Given the description of an element on the screen output the (x, y) to click on. 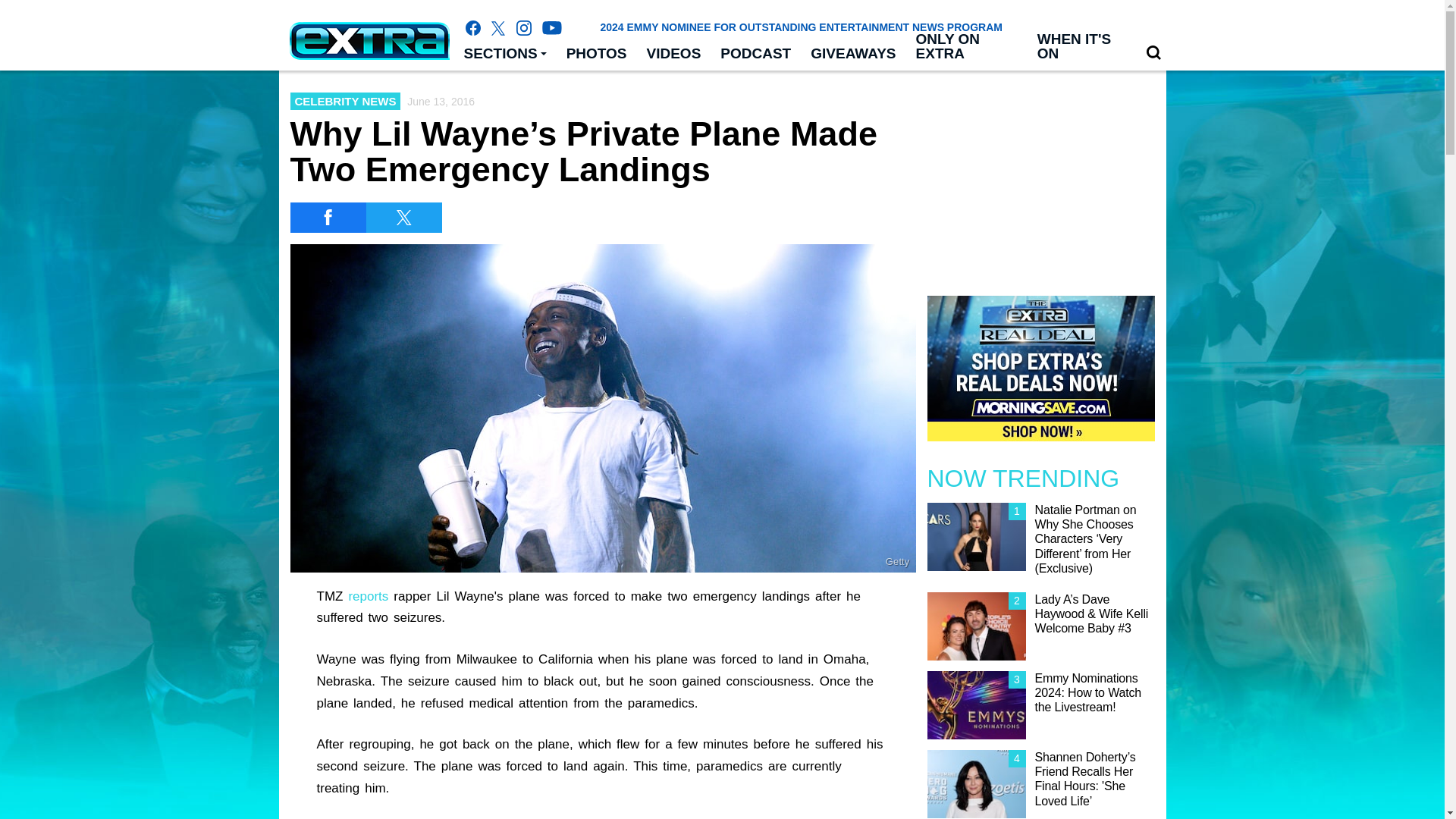
Search (1153, 53)
VIDEOS (674, 54)
CELEBRITY NEWS (344, 100)
GIVEAWAYS (852, 54)
WHEN IT'S ON (1080, 47)
SECTIONS (504, 54)
PODCAST (755, 54)
PHOTOS (596, 54)
3rd party ad content (721, 785)
3rd party ad content (1040, 176)
ONLY ON EXTRA (966, 47)
Search (1153, 52)
